Given the description of an element on the screen output the (x, y) to click on. 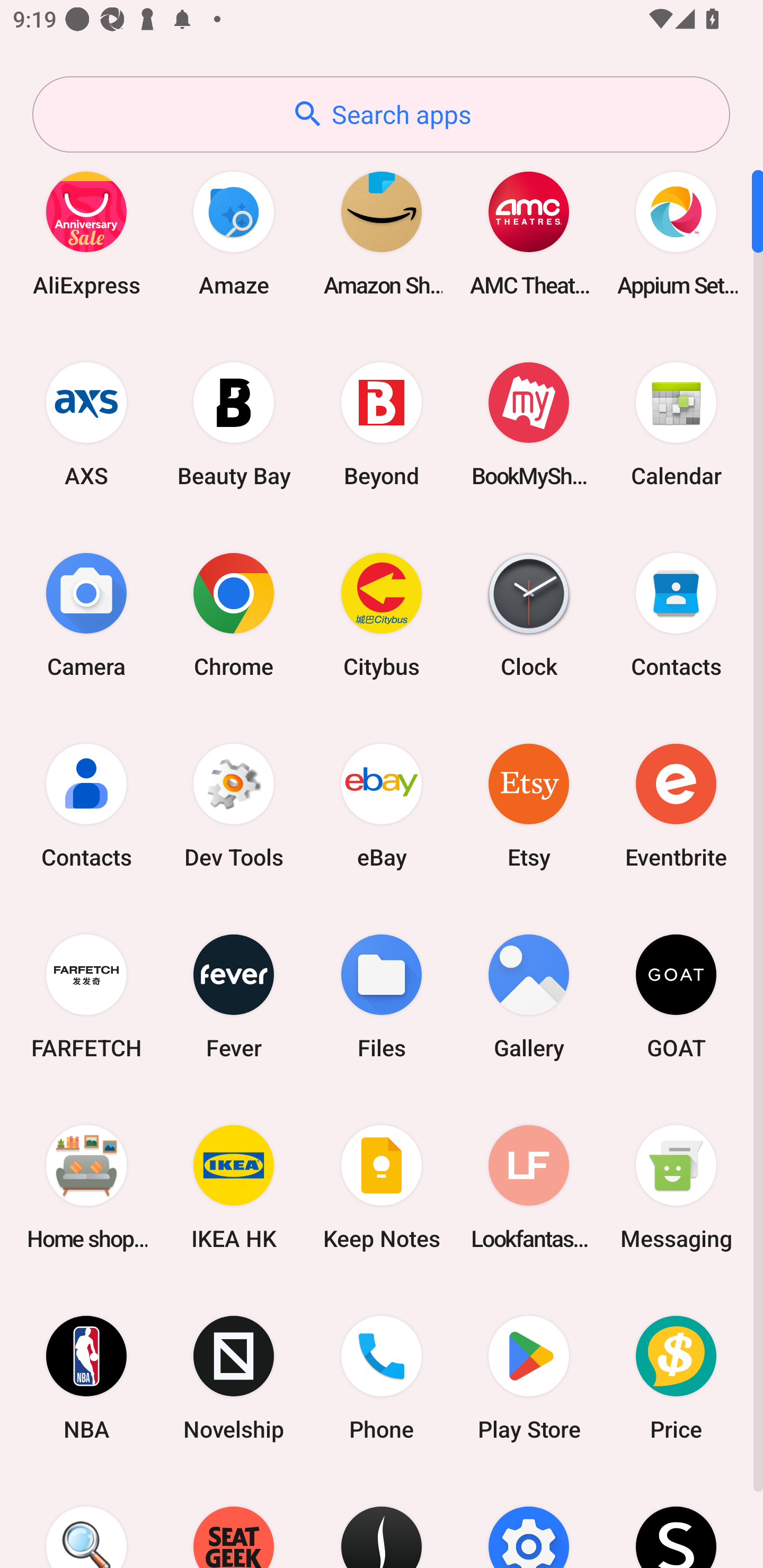
  Search apps (381, 114)
AliExpress (86, 233)
Amaze (233, 233)
Amazon Shopping (381, 233)
AMC Theatres (528, 233)
Appium Settings (676, 233)
AXS (86, 424)
Beauty Bay (233, 424)
Beyond (381, 424)
BookMyShow (528, 424)
Calendar (676, 424)
Camera (86, 614)
Chrome (233, 614)
Citybus (381, 614)
Clock (528, 614)
Contacts (676, 614)
Contacts (86, 805)
Dev Tools (233, 805)
eBay (381, 805)
Etsy (528, 805)
Eventbrite (676, 805)
FARFETCH (86, 996)
Fever (233, 996)
Files (381, 996)
Gallery (528, 996)
GOAT (676, 996)
Home shopping (86, 1186)
IKEA HK (233, 1186)
Keep Notes (381, 1186)
Lookfantastic (528, 1186)
Messaging (676, 1186)
NBA (86, 1377)
Novelship (233, 1377)
Phone (381, 1377)
Play Store (528, 1377)
Price (676, 1377)
